Given the description of an element on the screen output the (x, y) to click on. 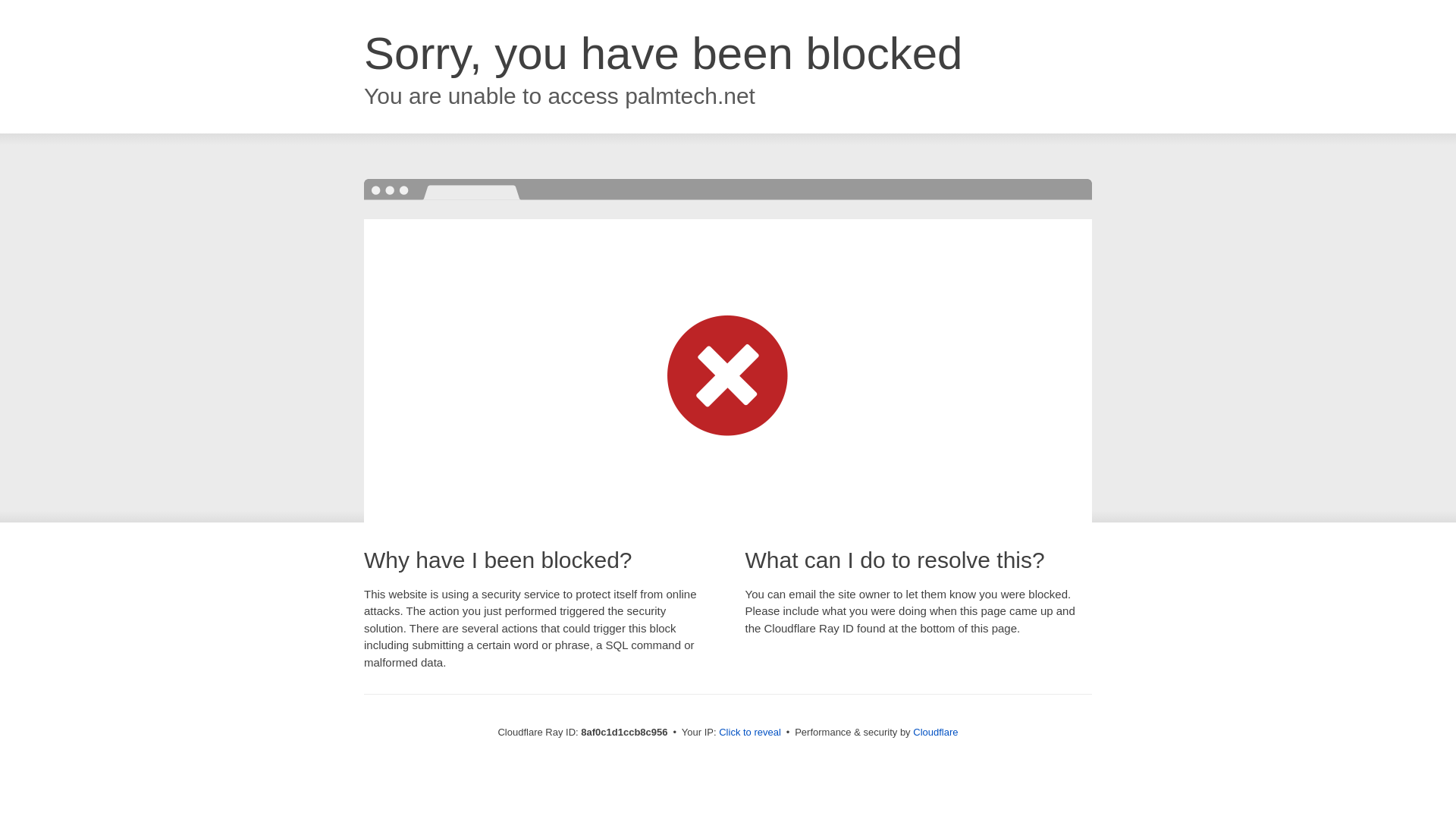
Click to reveal (749, 732)
Cloudflare (935, 731)
